Given the description of an element on the screen output the (x, y) to click on. 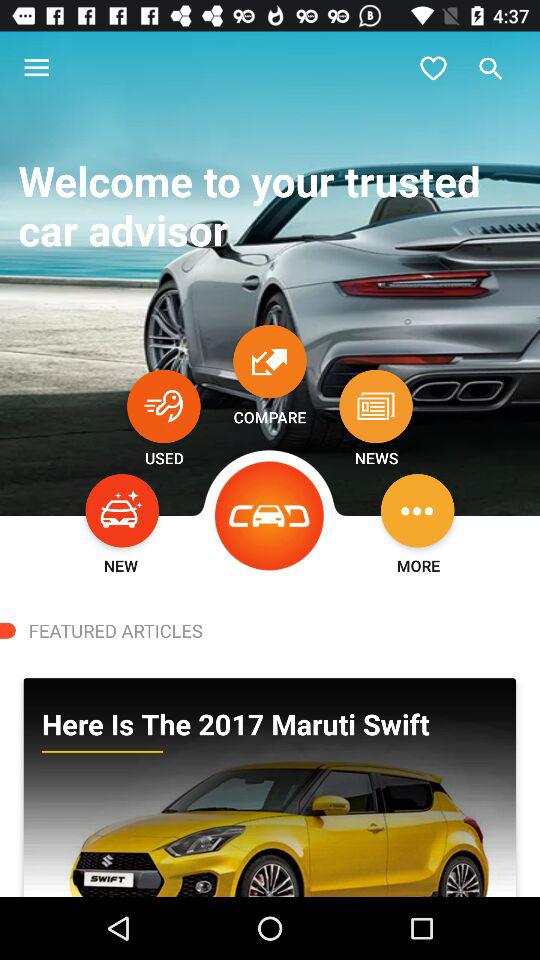
press the icon above new icon (121, 510)
